Given the description of an element on the screen output the (x, y) to click on. 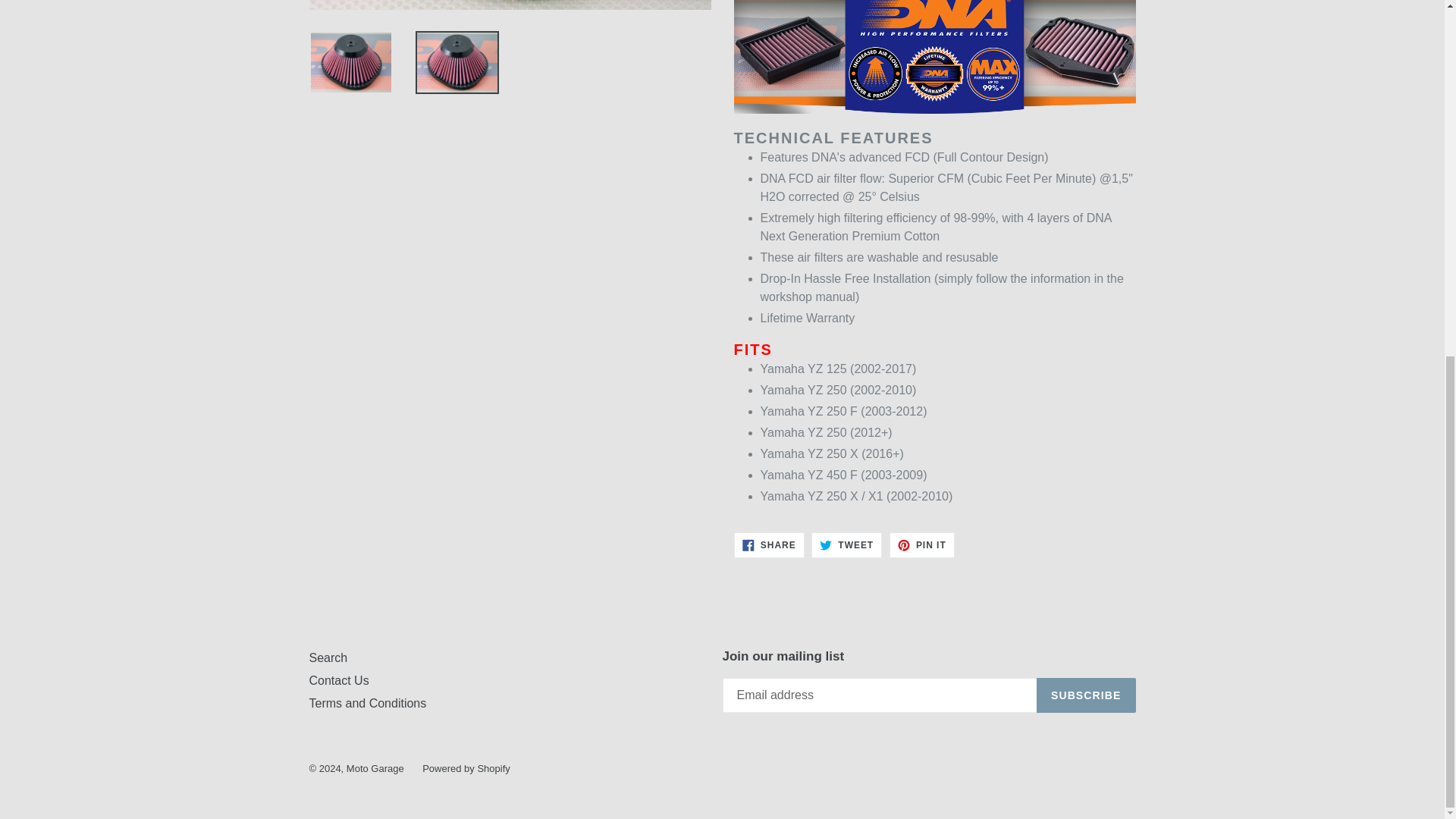
Share on Facebook (769, 544)
Tweet on Twitter (846, 544)
Pin on Pinterest (922, 544)
